Given the description of an element on the screen output the (x, y) to click on. 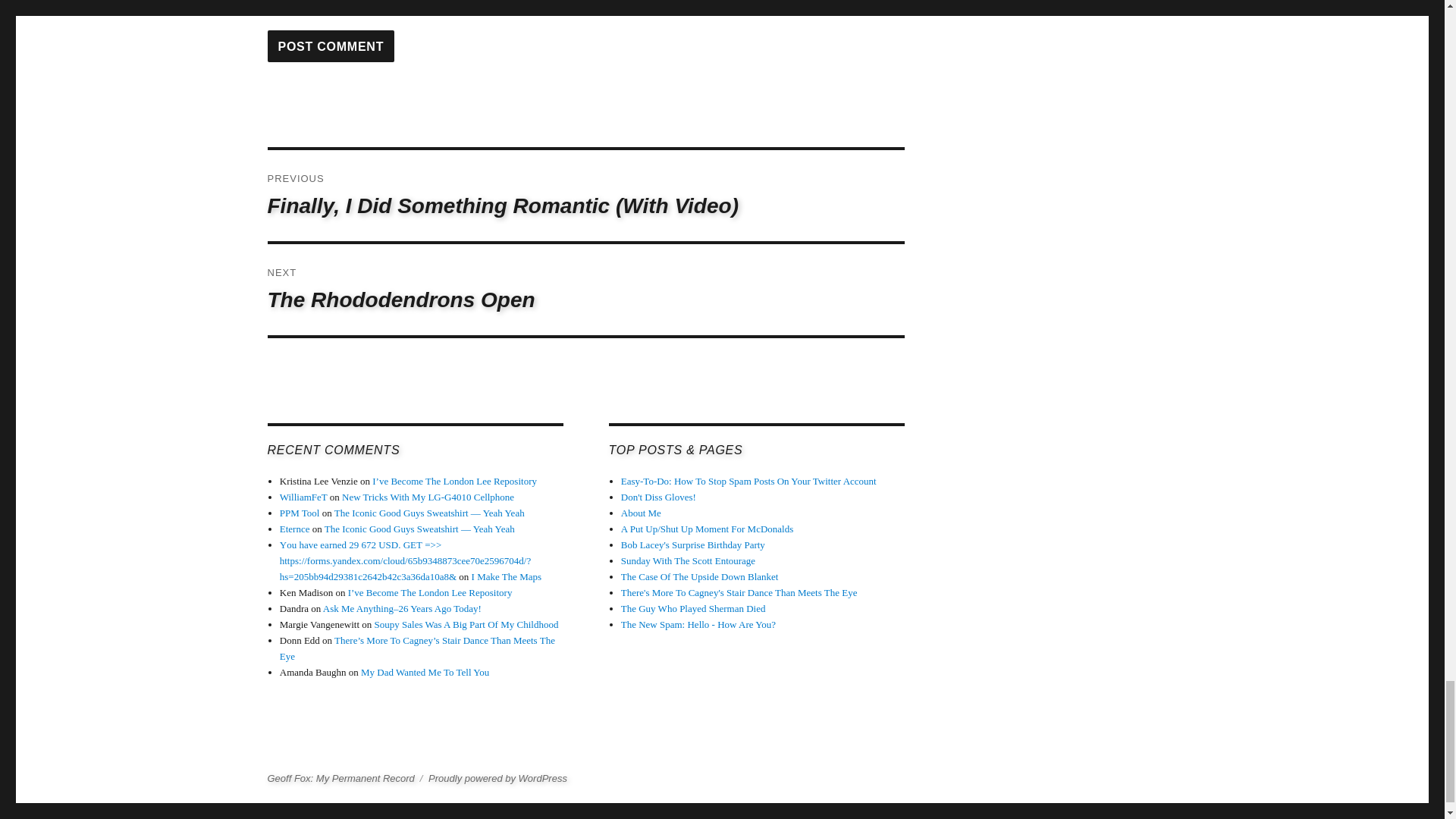
subscribe (271, 6)
Post Comment (330, 46)
Post Comment (330, 46)
